Given the description of an element on the screen output the (x, y) to click on. 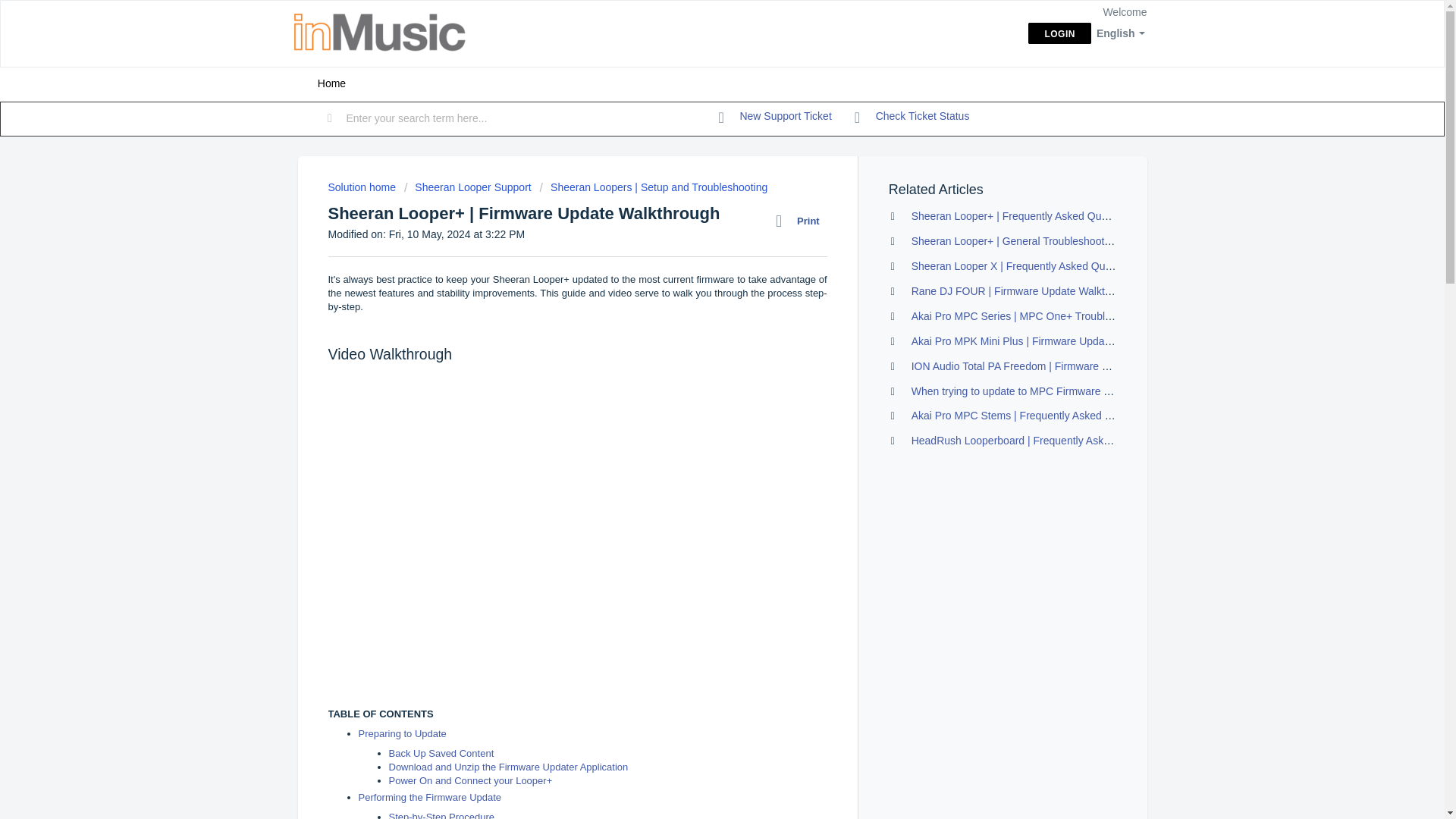
LOGIN (1058, 33)
New support ticket (775, 116)
Chat (1406, 779)
New Support Ticket (775, 116)
Step-by-Step Procedure  (442, 815)
Sheeran Looper Support (467, 186)
Home (331, 83)
Back Up Saved Content (440, 753)
Check Ticket Status (911, 116)
Print (801, 220)
Performing the Firmware Update (429, 797)
Download and Unzip the Firmware Updater Application (507, 767)
Print this Article (801, 220)
Solution home (362, 186)
Check ticket status (911, 116)
